Given the description of an element on the screen output the (x, y) to click on. 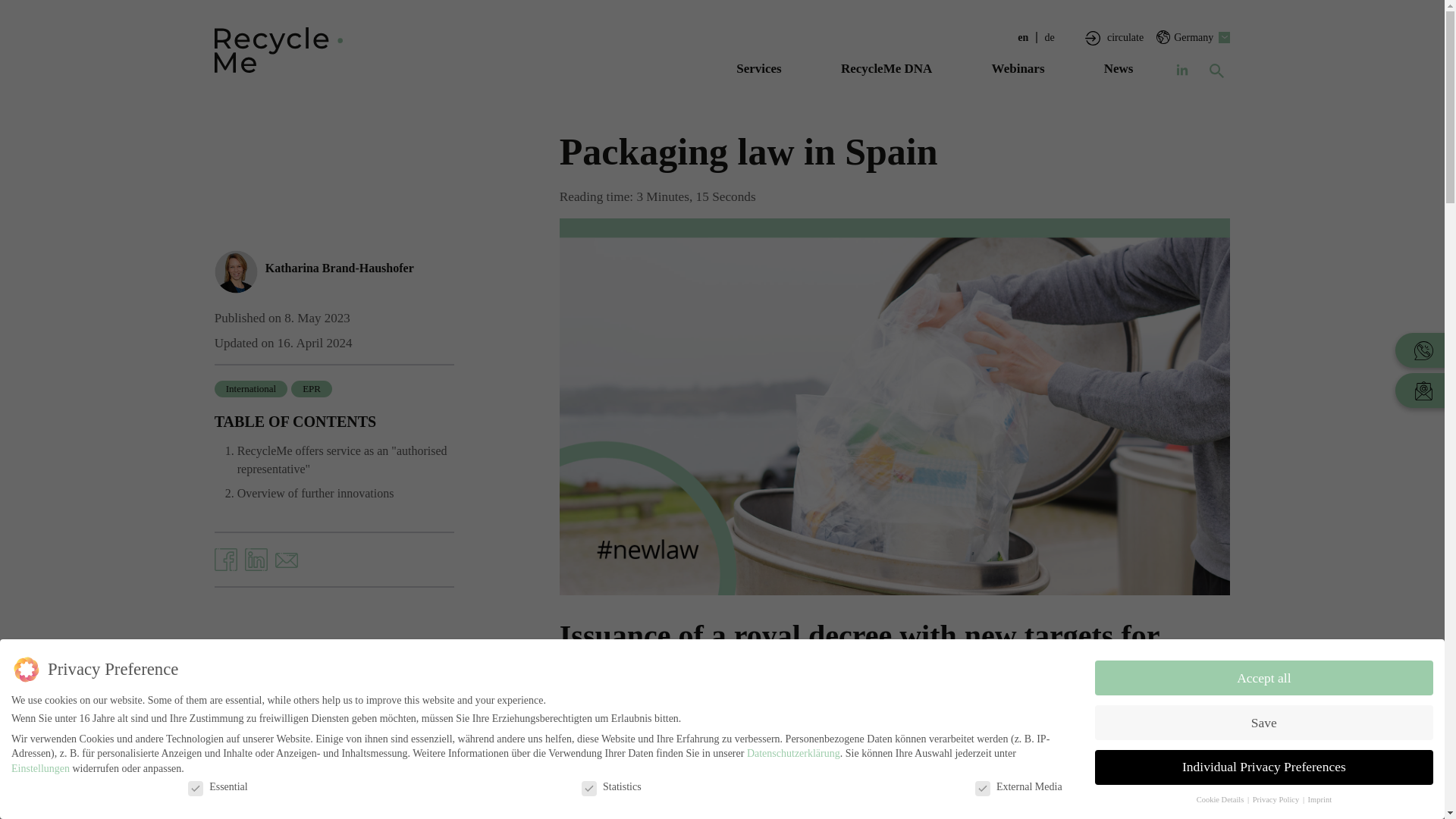
Deutsch (1051, 37)
en (1024, 37)
RecycleMe DNA (886, 83)
de (1051, 37)
Open Cookie Preferences (32, 784)
Services (758, 83)
circulate (1124, 37)
